Given the description of an element on the screen output the (x, y) to click on. 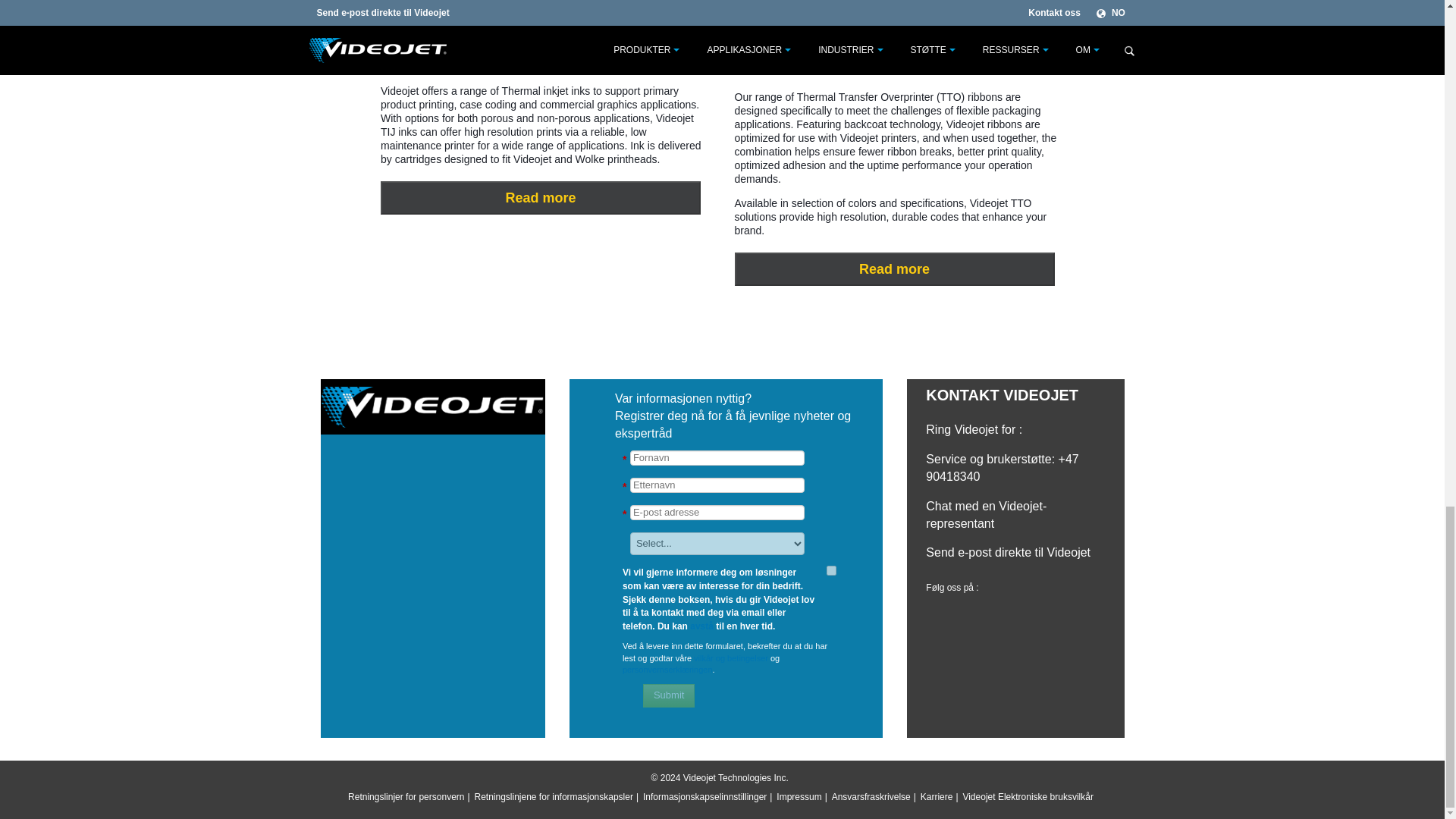
yes (831, 570)
